Given the description of an element on the screen output the (x, y) to click on. 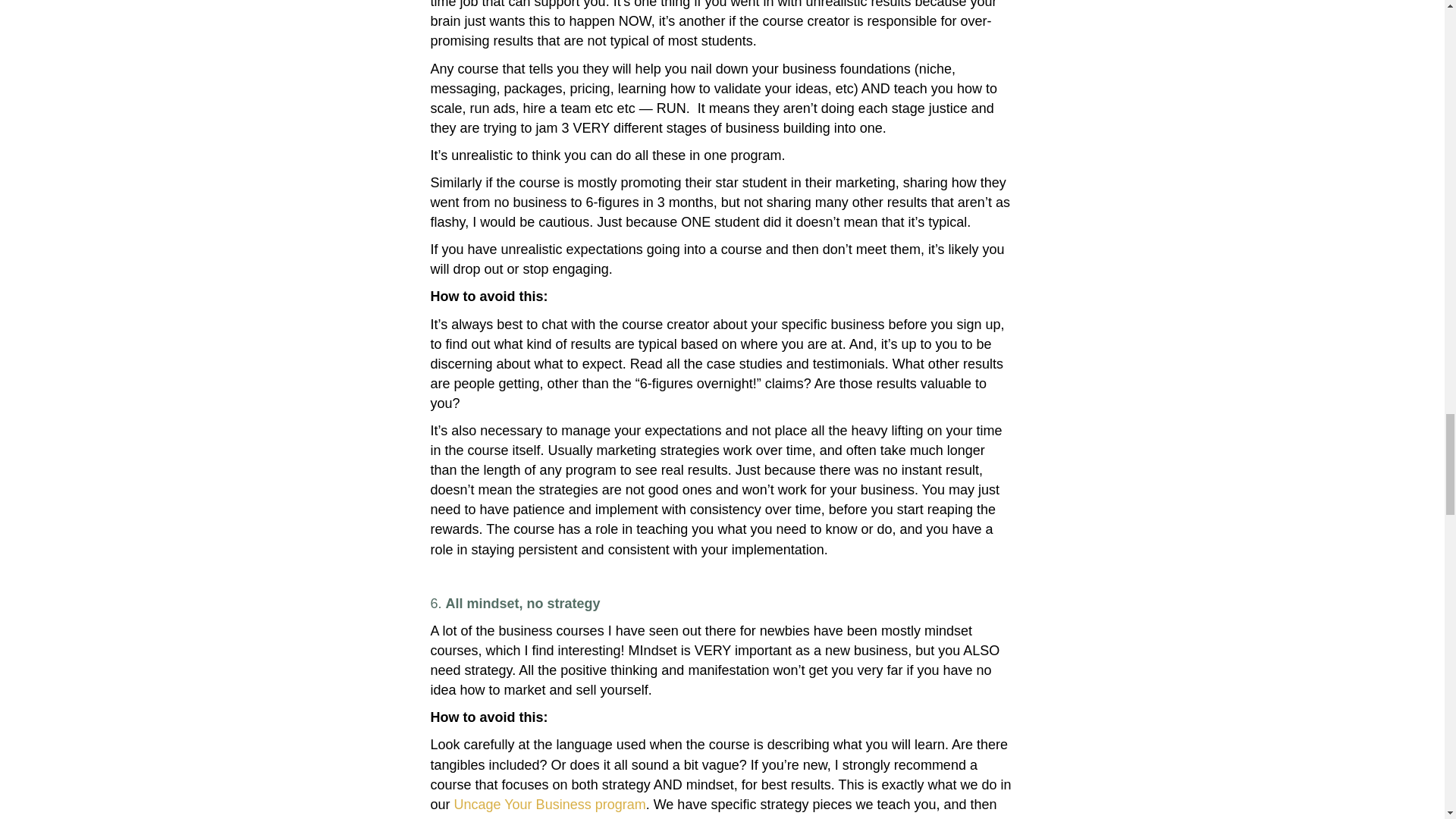
Uncage Your Business program (550, 804)
